Given the description of an element on the screen output the (x, y) to click on. 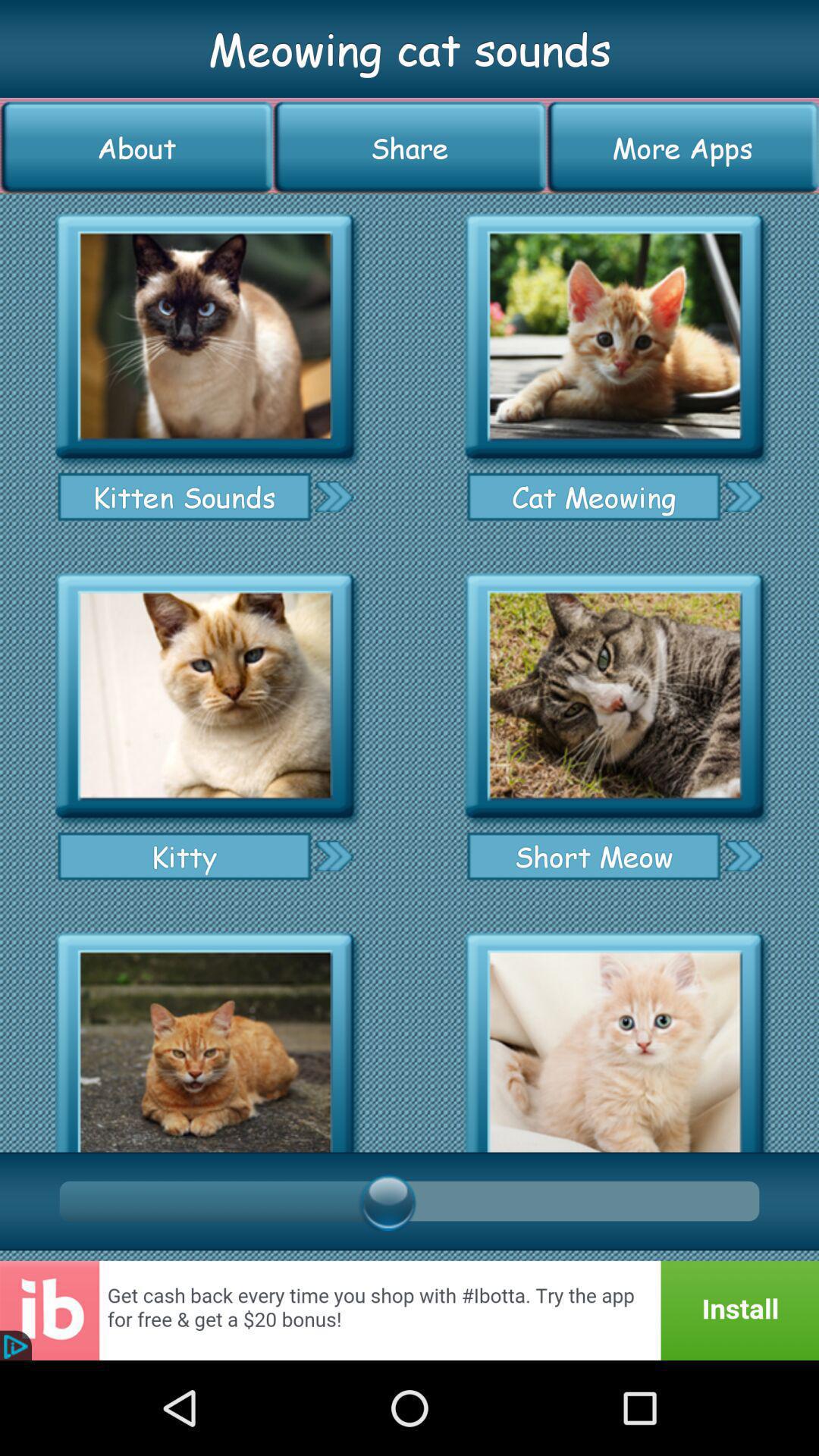
toggle emoji option (613, 696)
